Given the description of an element on the screen output the (x, y) to click on. 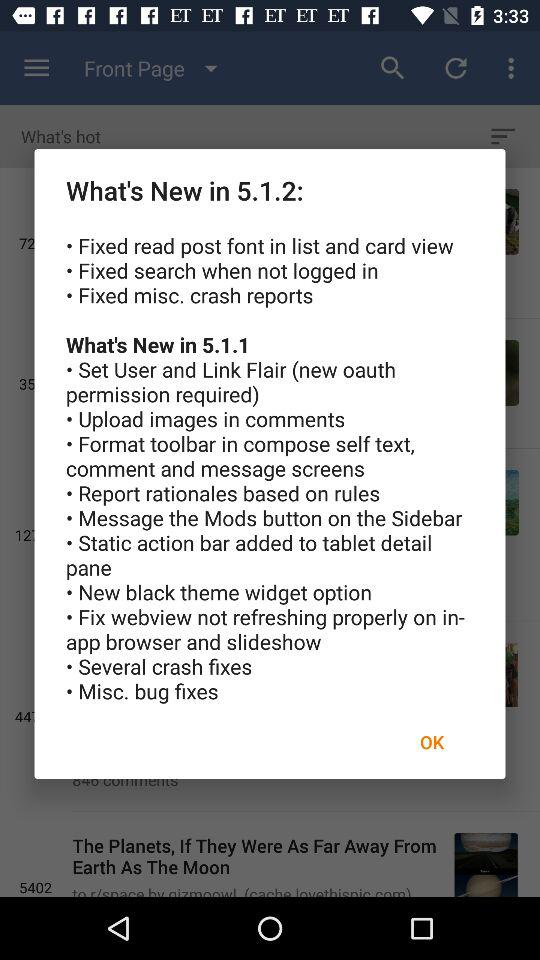
turn on ok at the bottom right corner (431, 741)
